Given the description of an element on the screen output the (x, y) to click on. 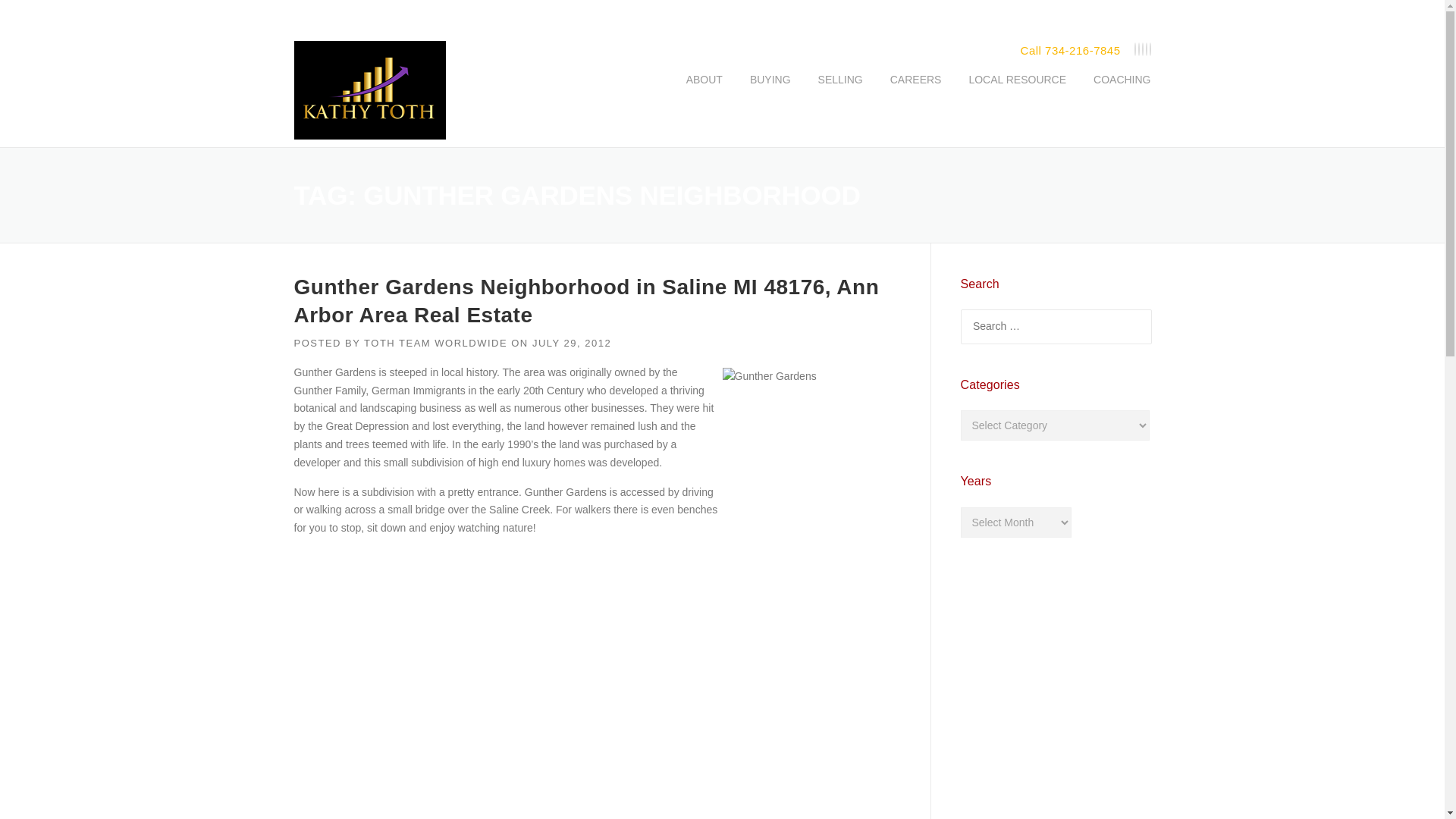
CAREERS (915, 91)
ABOUT (704, 91)
BUYING (770, 91)
SELLING (840, 91)
kathytoth.com (369, 92)
